Given the description of an element on the screen output the (x, y) to click on. 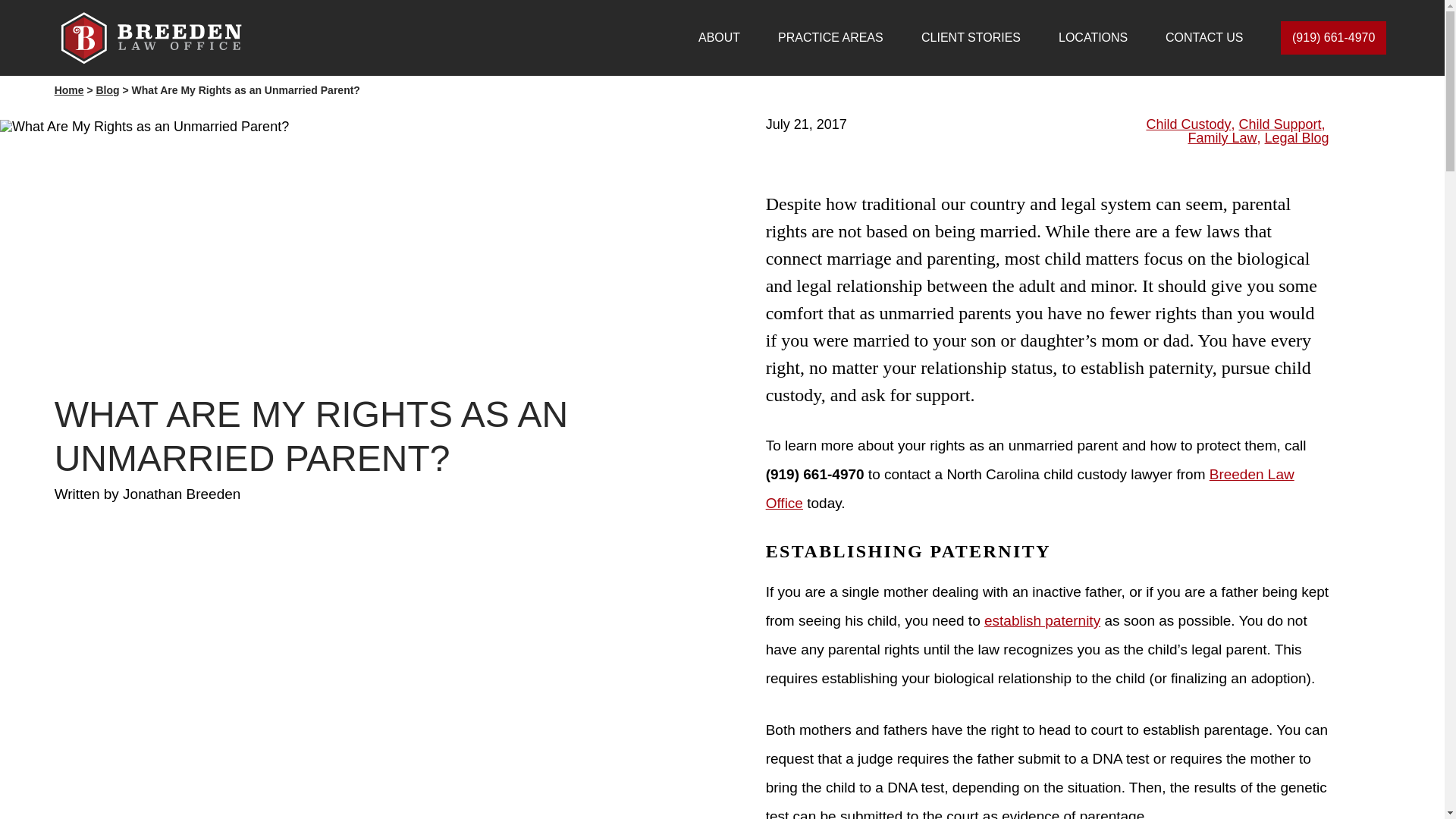
Child Support (1280, 124)
Blog (107, 90)
PRACTICE AREAS (830, 38)
Legal Blog (1297, 137)
CLIENT STORIES (970, 38)
Home (69, 90)
establish paternity (1042, 620)
LOCATIONS (1092, 38)
Breeden Law Office (1029, 488)
Child Custody (1187, 124)
